Given the description of an element on the screen output the (x, y) to click on. 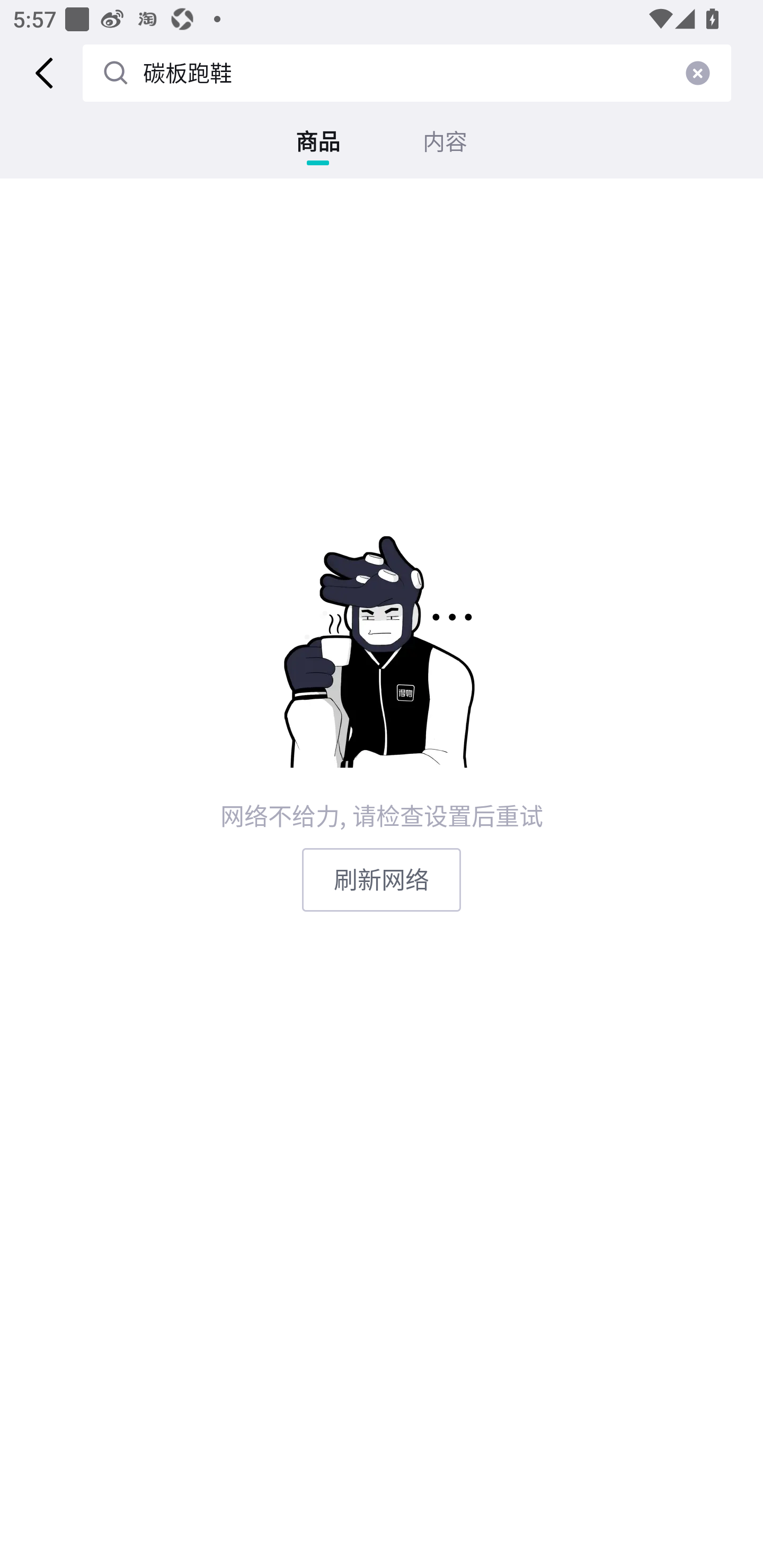
碳板跑鞋 (406, 72)
碳板跑鞋 (187, 72)
商品 (317, 141)
内容 (444, 141)
刷新网络 (381, 879)
